Given the description of an element on the screen output the (x, y) to click on. 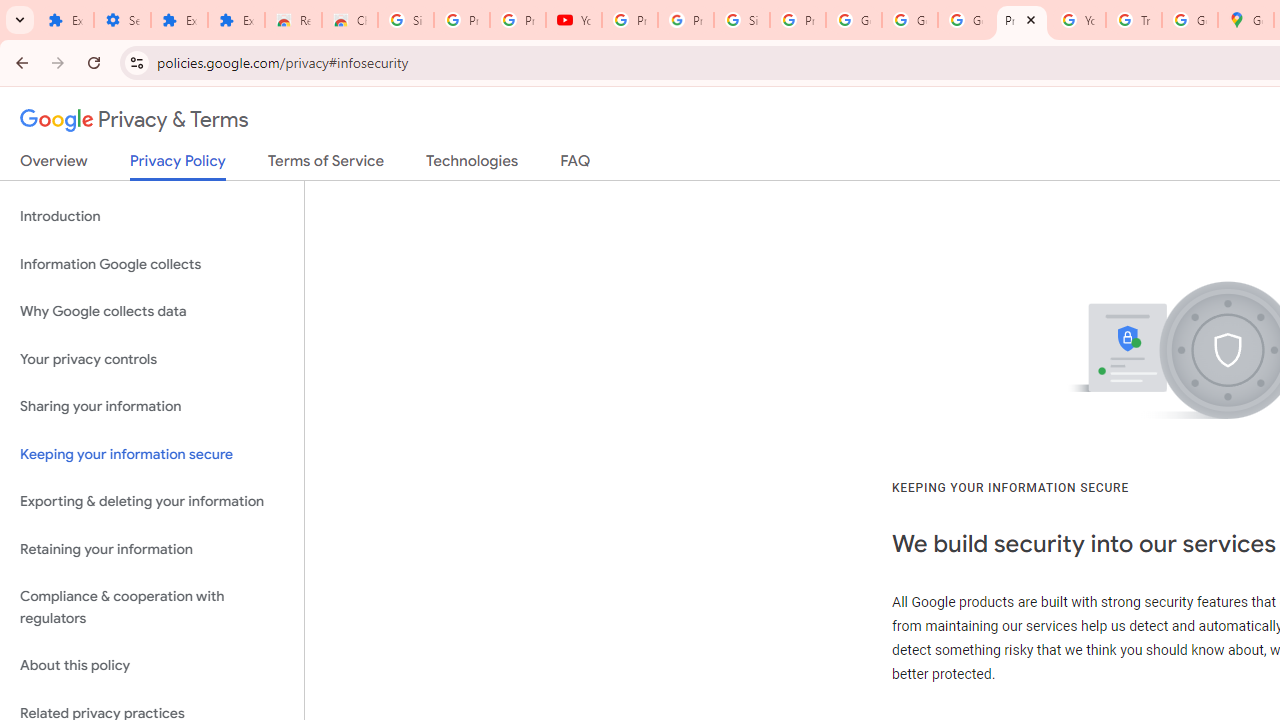
Extensions (179, 20)
Sharing your information (152, 407)
Chrome Web Store - Themes (349, 20)
Extensions (235, 20)
